Given the description of an element on the screen output the (x, y) to click on. 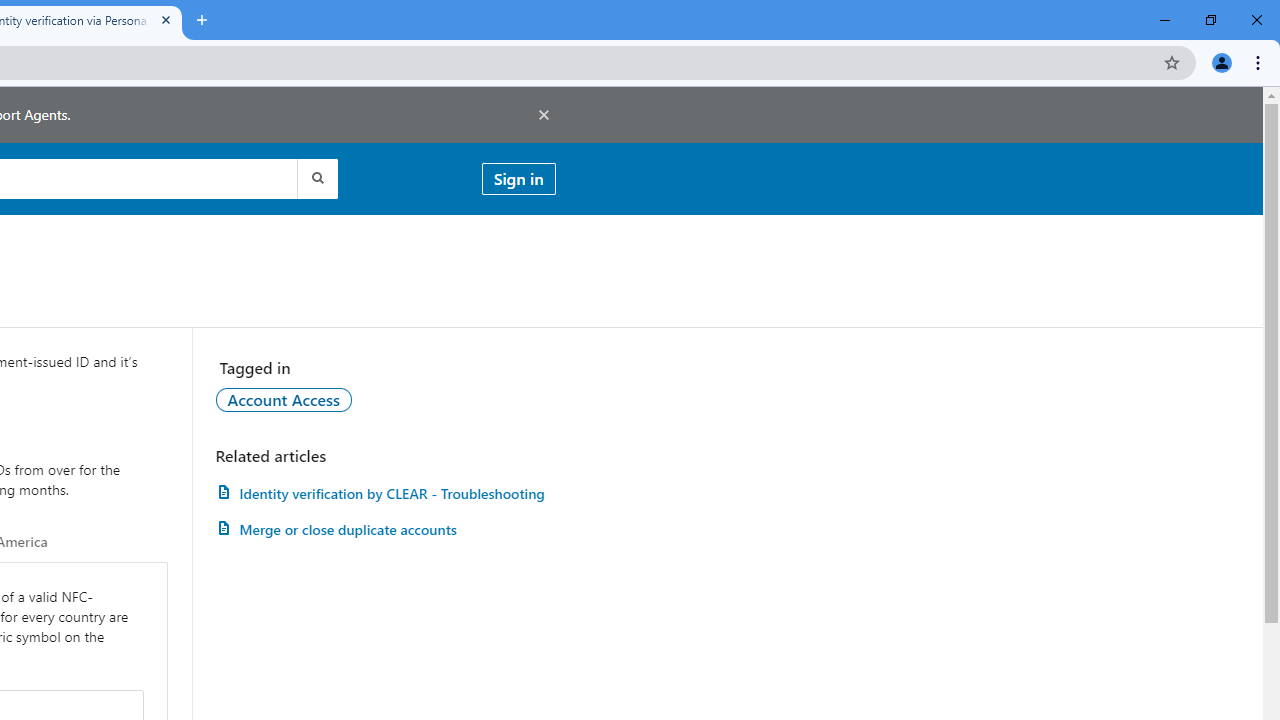
AutomationID: article-link-a1457505 (385, 493)
Identity verification by CLEAR - Troubleshooting (385, 493)
AutomationID: topic-link-a151002 (283, 399)
AutomationID: article-link-a1337200 (385, 529)
Account Access (283, 399)
Merge or close duplicate accounts (385, 529)
Submit search (316, 178)
